Given the description of an element on the screen output the (x, y) to click on. 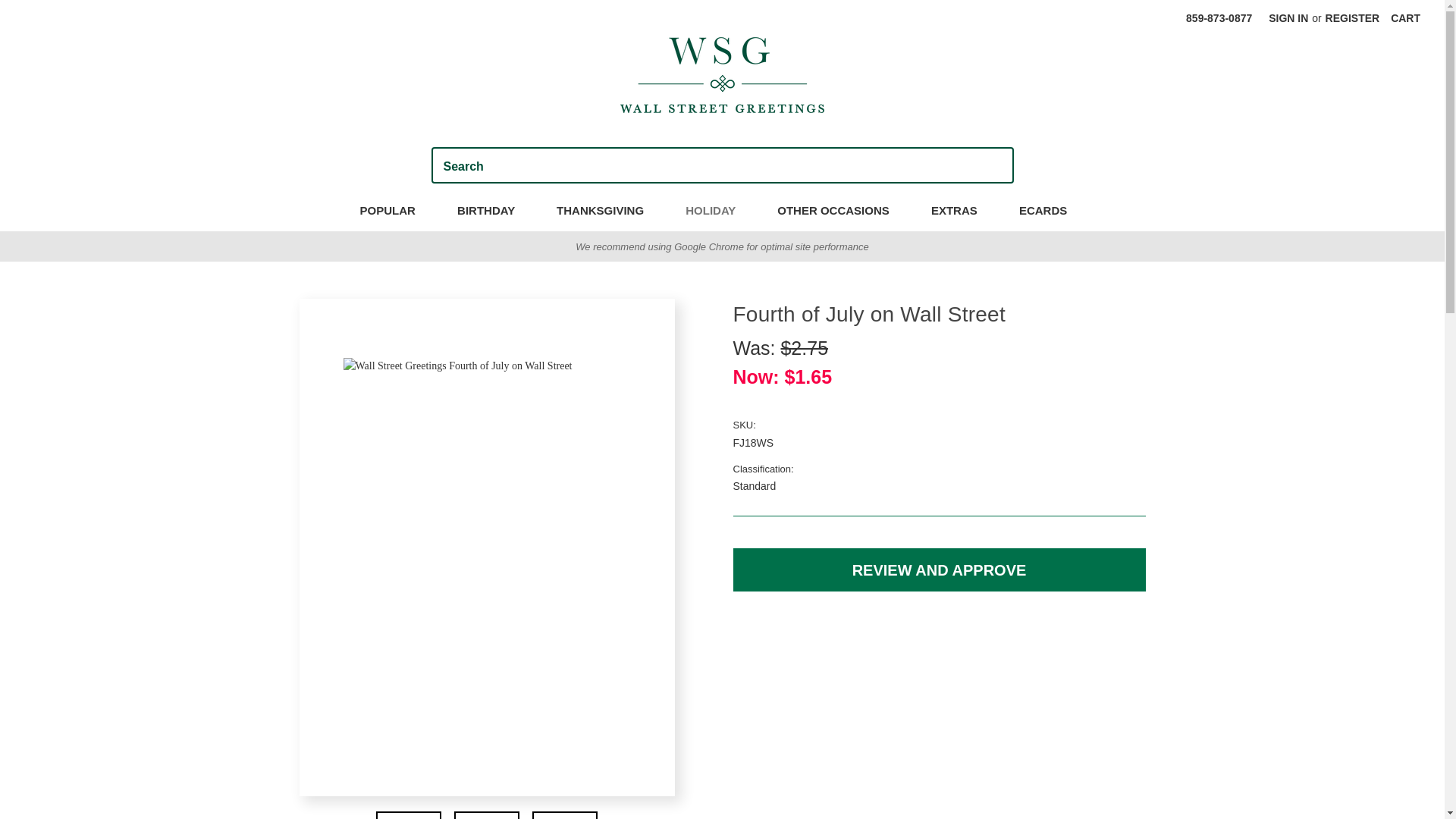
859-873-0877 (1218, 18)
THANKSGIVING (608, 212)
CART (1404, 18)
SIGN IN (1288, 18)
OTHER OCCASIONS (841, 212)
HOLIDAY (718, 212)
Wall Street Greetings (722, 74)
BIRTHDAY (494, 212)
POPULAR (396, 212)
REGISTER (1353, 18)
